Given the description of an element on the screen output the (x, y) to click on. 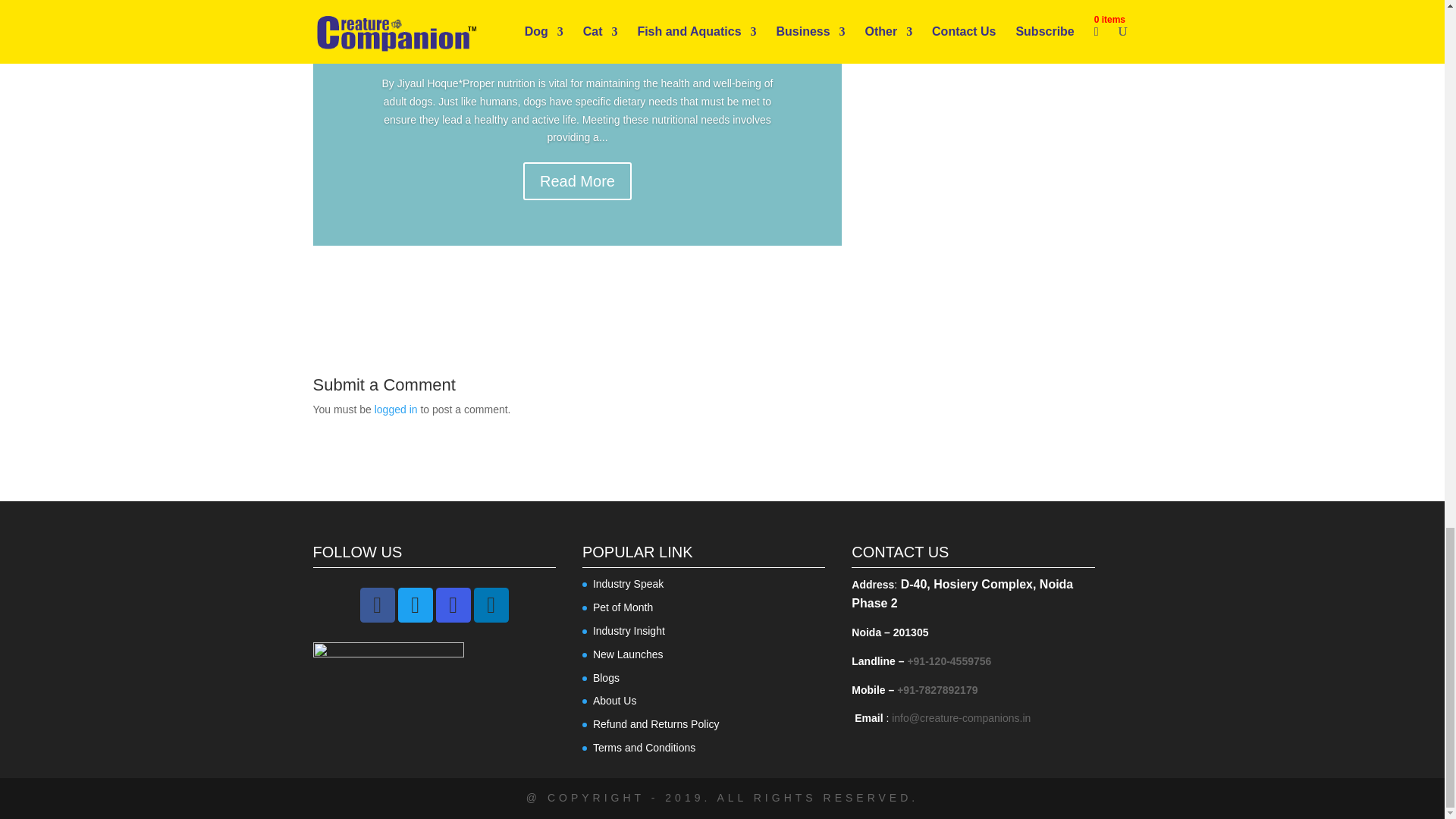
Facebook (376, 605)
Twitter (414, 605)
Facebook (376, 604)
Instagram (452, 605)
Instagram (452, 604)
Twitter (414, 604)
